Given the description of an element on the screen output the (x, y) to click on. 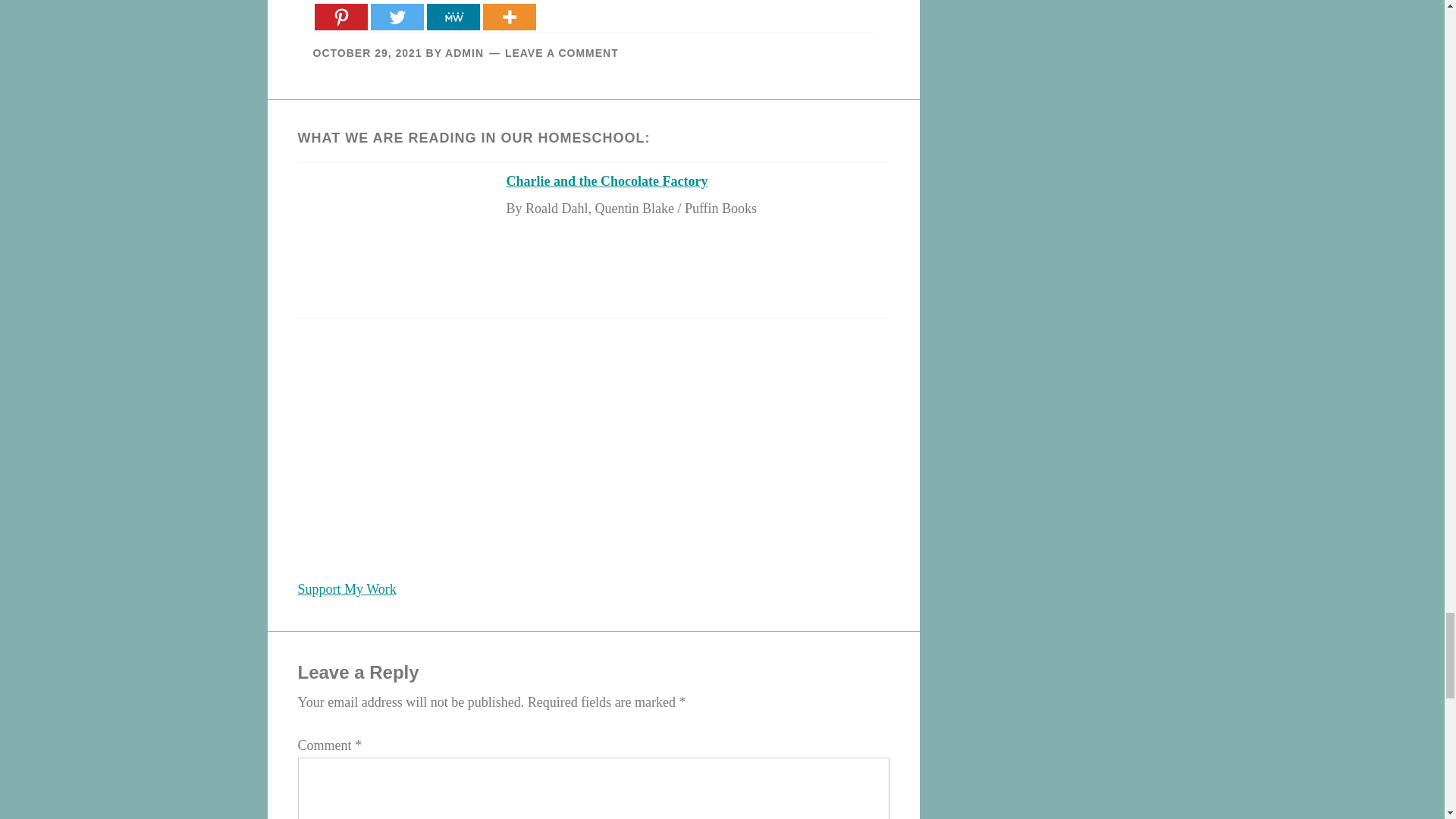
More (508, 14)
MeWe (452, 14)
Twitter (396, 14)
Pinterest (340, 14)
